Given the description of an element on the screen output the (x, y) to click on. 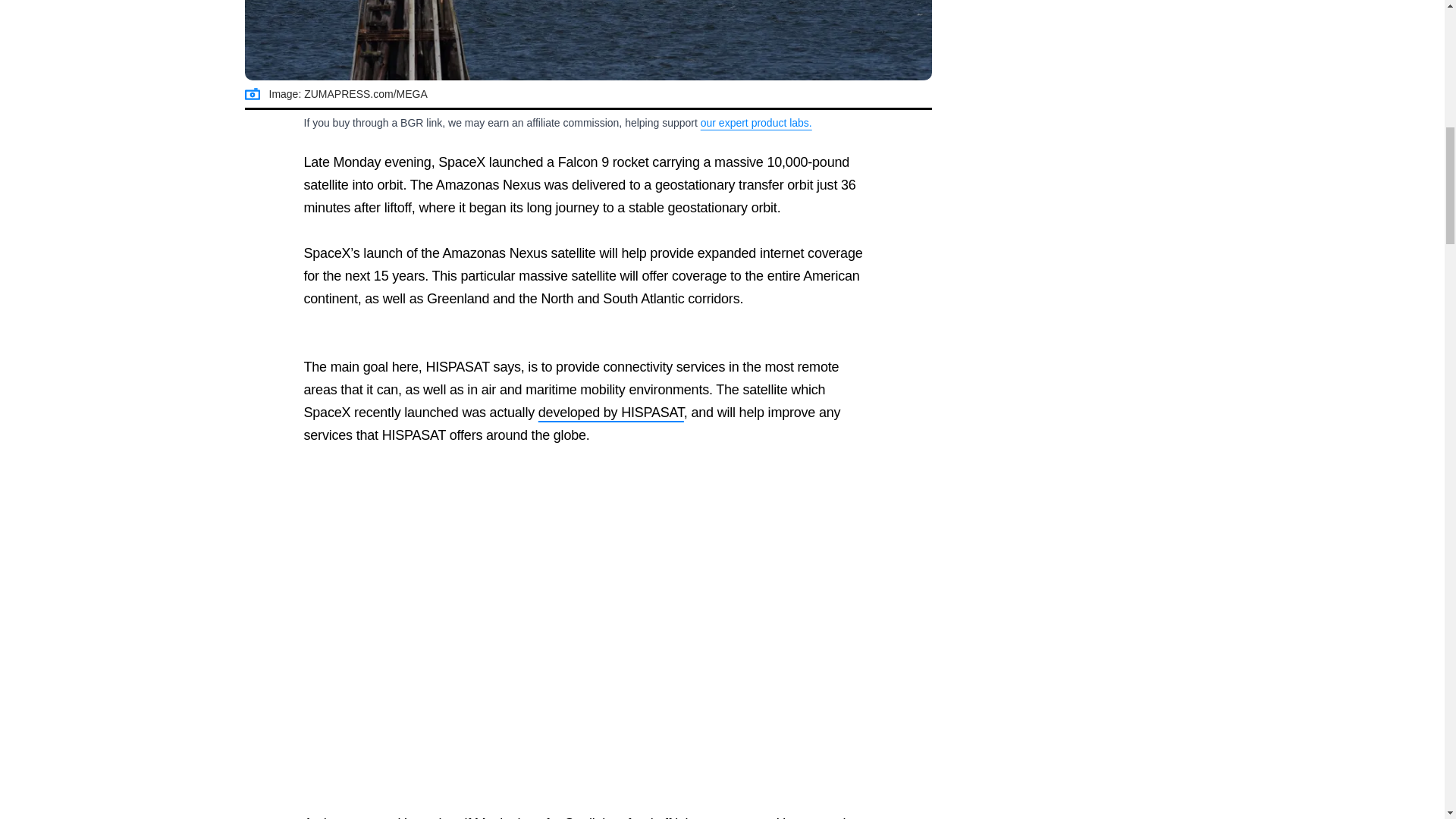
Spacex satellite launch (587, 40)
